Given the description of an element on the screen output the (x, y) to click on. 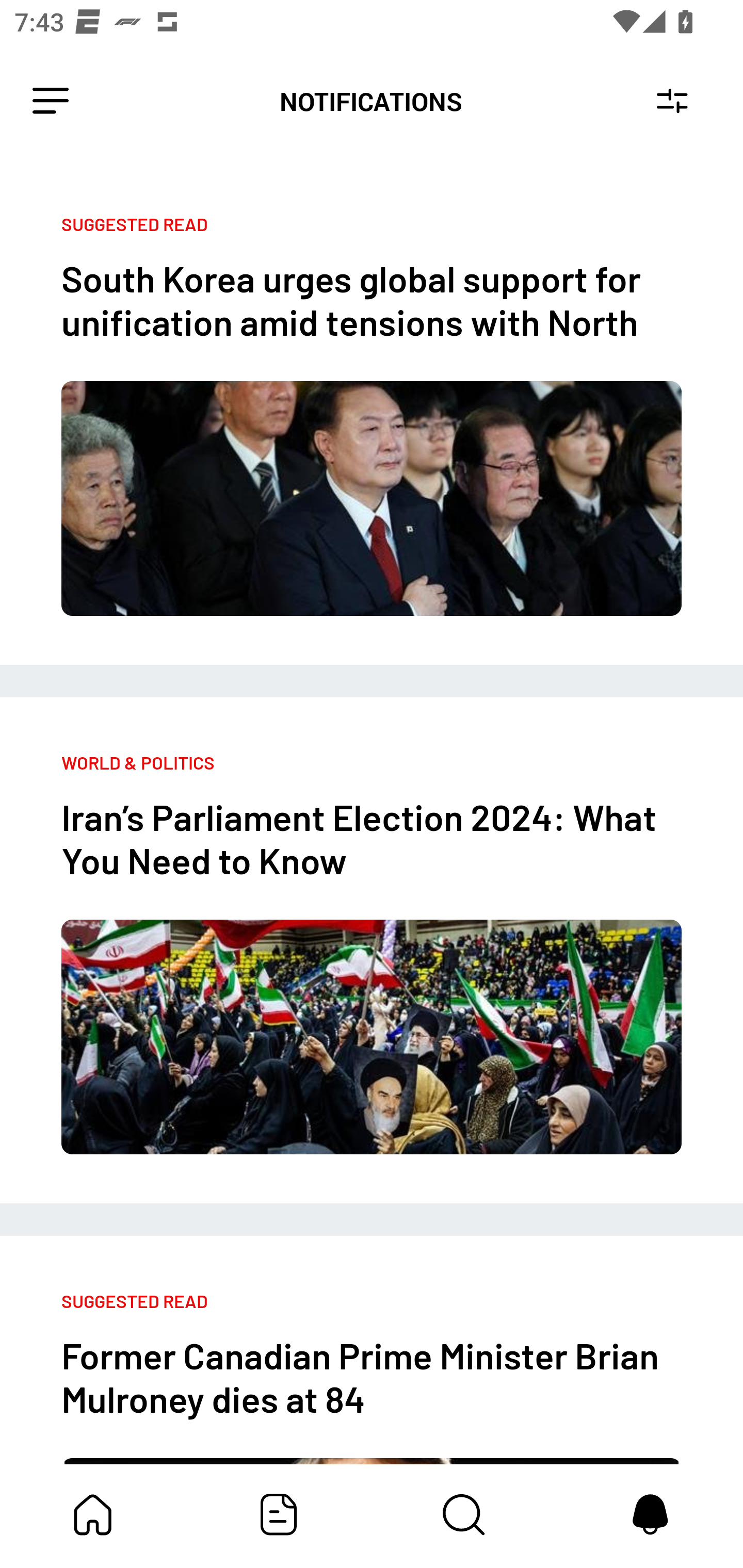
Leading Icon (50, 101)
Notification Settings (672, 101)
My Bundle (92, 1514)
Featured (278, 1514)
Content Store (464, 1514)
